Given the description of an element on the screen output the (x, y) to click on. 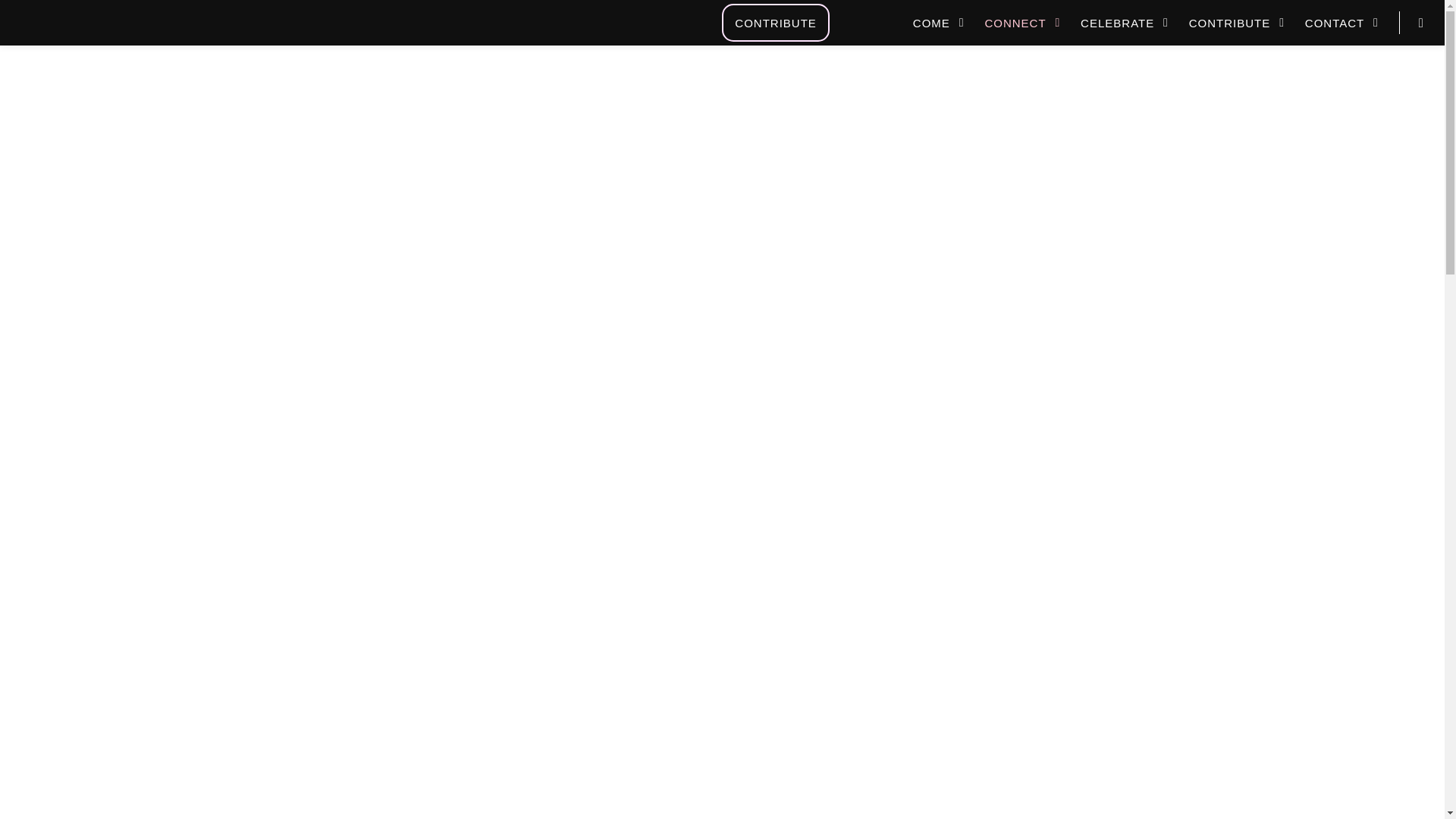
CELEBRATE (1126, 22)
CONTRIBUTE (775, 22)
CONNECT (1024, 22)
COME (940, 22)
